Given the description of an element on the screen output the (x, y) to click on. 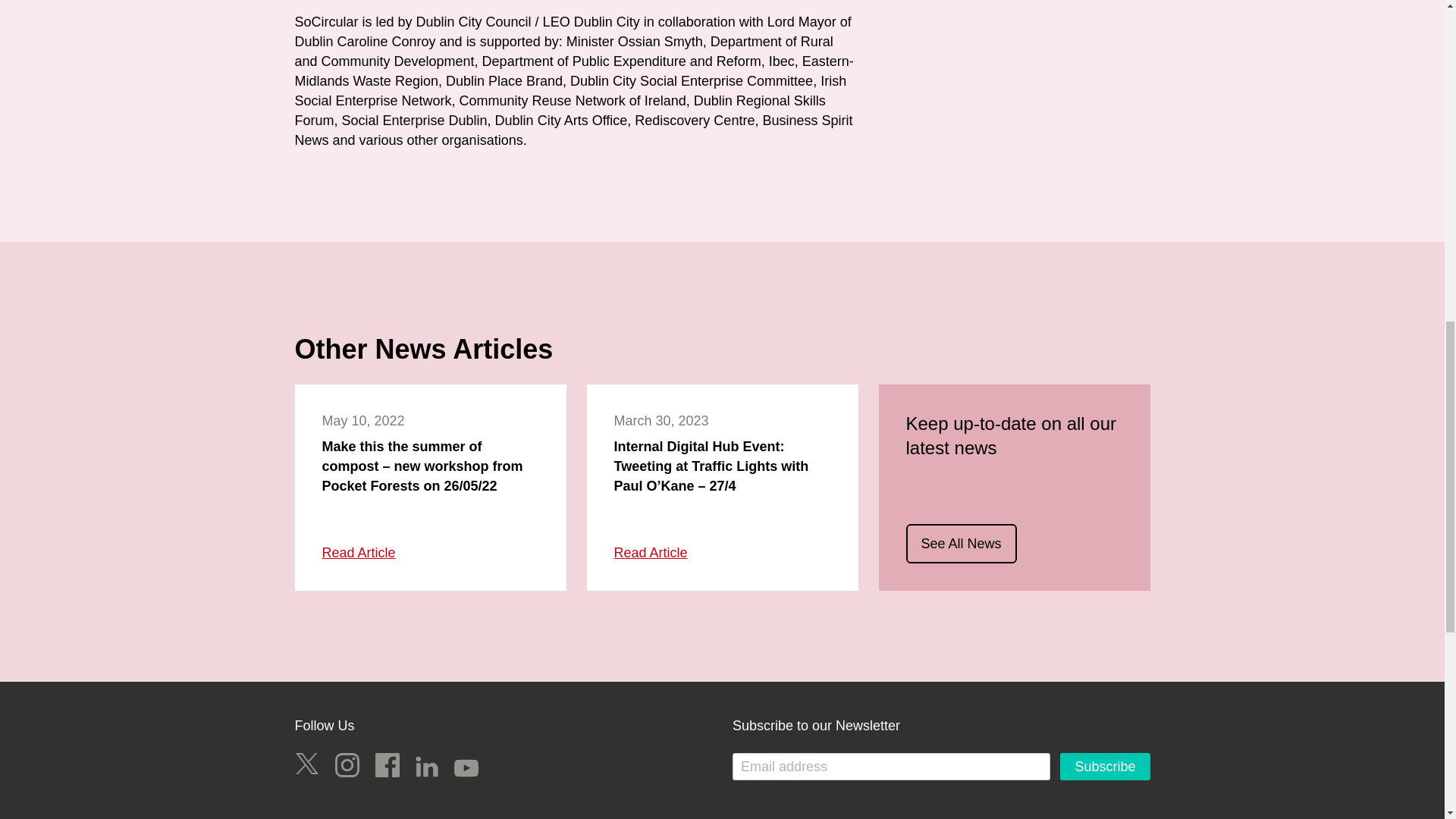
Twitter X (306, 764)
Read Article (650, 553)
See All News (960, 543)
Subscribe (1104, 766)
Instagram (346, 764)
Read Article (357, 553)
YouTube (466, 768)
Facebook (386, 764)
LinkedIn (426, 766)
